Given the description of an element on the screen output the (x, y) to click on. 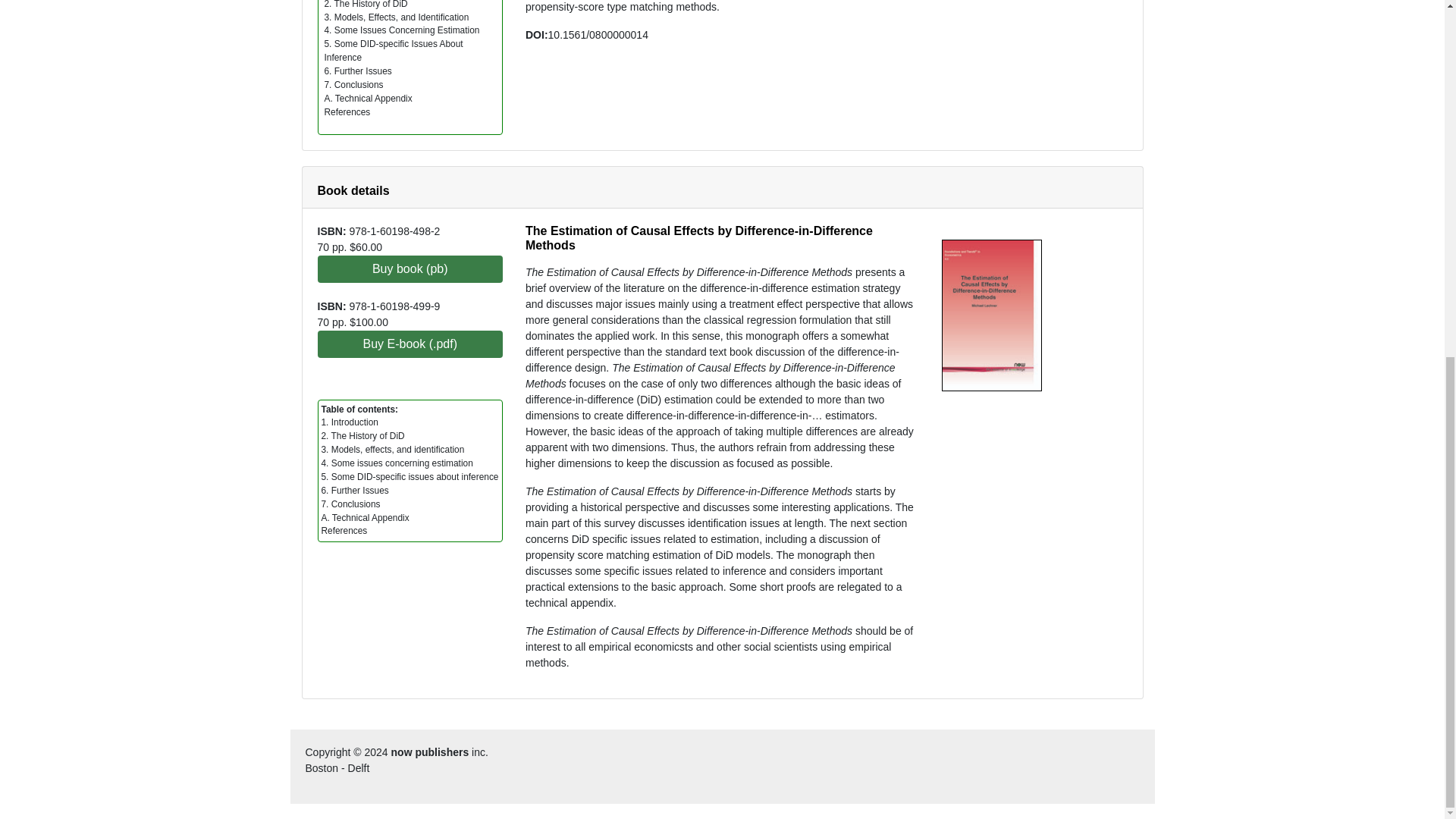
Book details (352, 190)
